Given the description of an element on the screen output the (x, y) to click on. 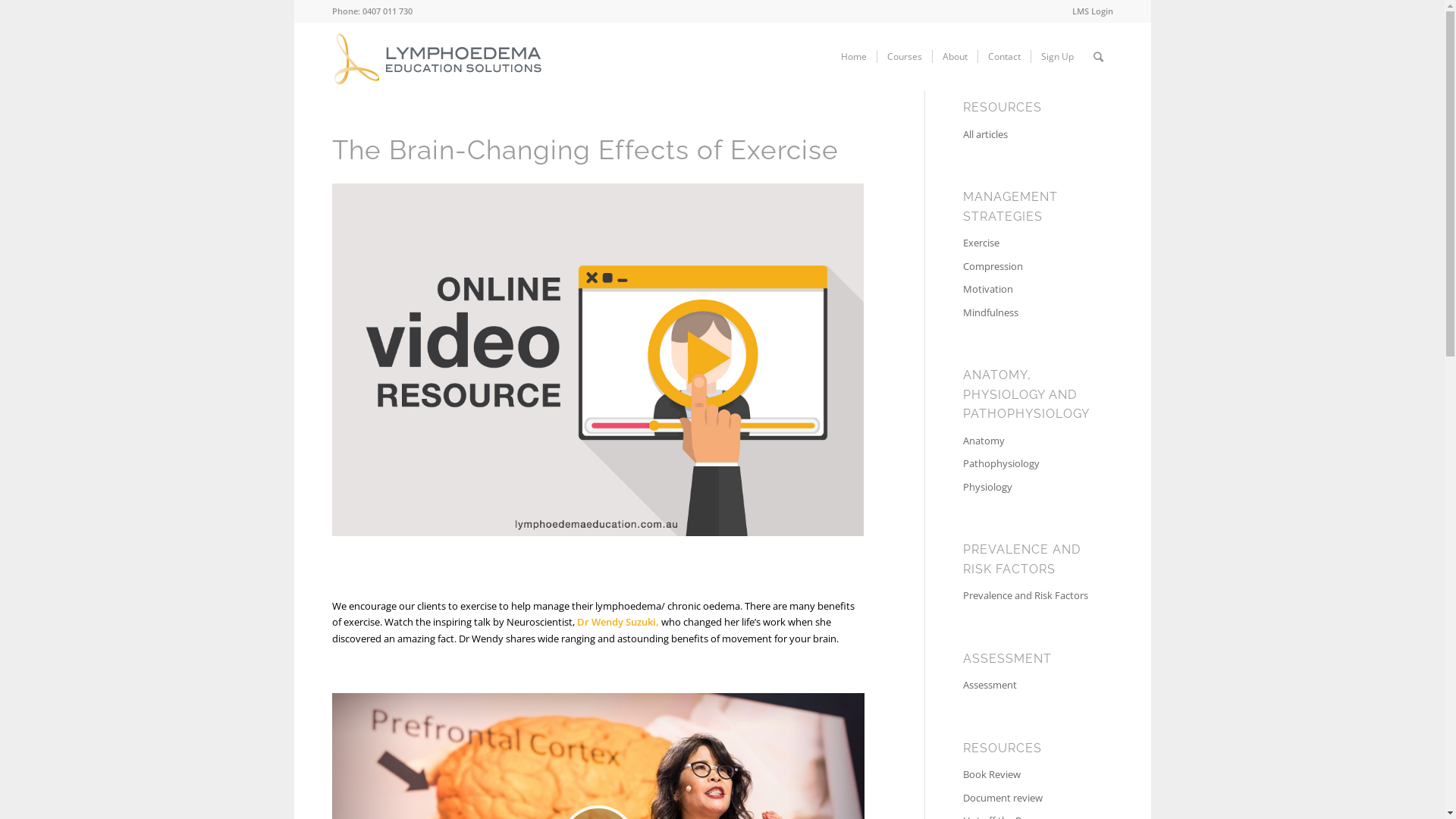
Anatomy Element type: text (1026, 440)
Sign Up Element type: text (1055, 56)
Courses Element type: text (903, 56)
Pathophysiology Element type: text (1026, 463)
Mindfulness Element type: text (1026, 312)
Motivation Element type: text (1026, 289)
Prevalence and Risk Factors Element type: text (1026, 595)
Contact Element type: text (1002, 56)
Home Element type: text (853, 56)
About Element type: text (953, 56)
All articles Element type: text (1026, 134)
LMS Login Element type: text (1092, 10)
Book Review Element type: text (1026, 774)
Physiology Element type: text (1026, 487)
Exercise Element type: text (1026, 243)
Document review Element type: text (1026, 798)
Compression Element type: text (1026, 266)
Assessment Element type: text (1026, 685)
